Given the description of an element on the screen output the (x, y) to click on. 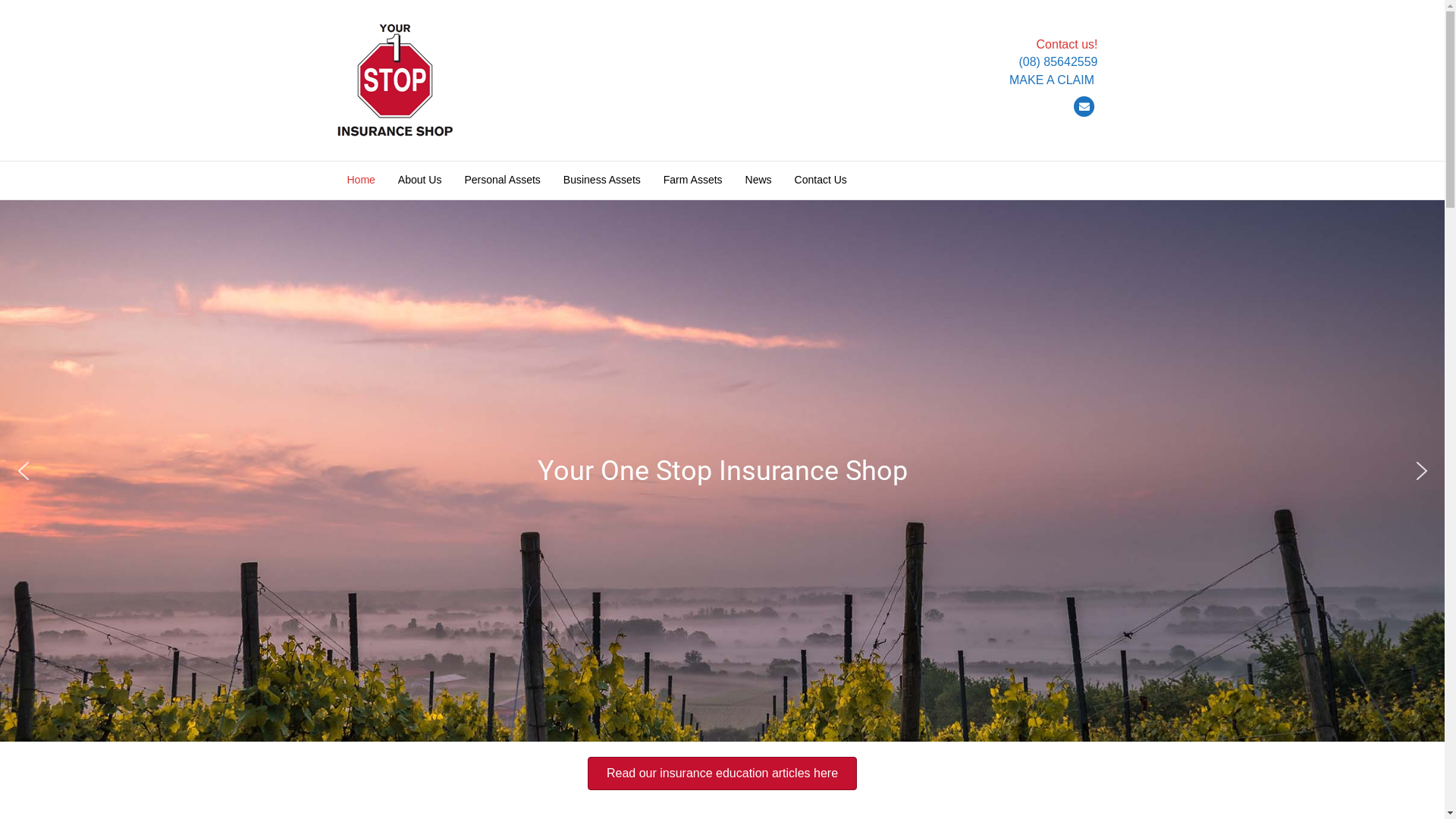
Business Assets Element type: text (602, 180)
Email Element type: text (1083, 106)
Read our insurance education articles here Element type: text (721, 773)
About Us Element type: text (419, 180)
Personal Assets Element type: text (501, 180)
(08) 85642559 Element type: text (1057, 61)
Home Element type: text (360, 180)
MAKE A CLAIM  Element type: text (1053, 79)
Farm Assets Element type: text (693, 180)
Contact Us Element type: text (820, 180)
News Element type: text (758, 180)
